Given the description of an element on the screen output the (x, y) to click on. 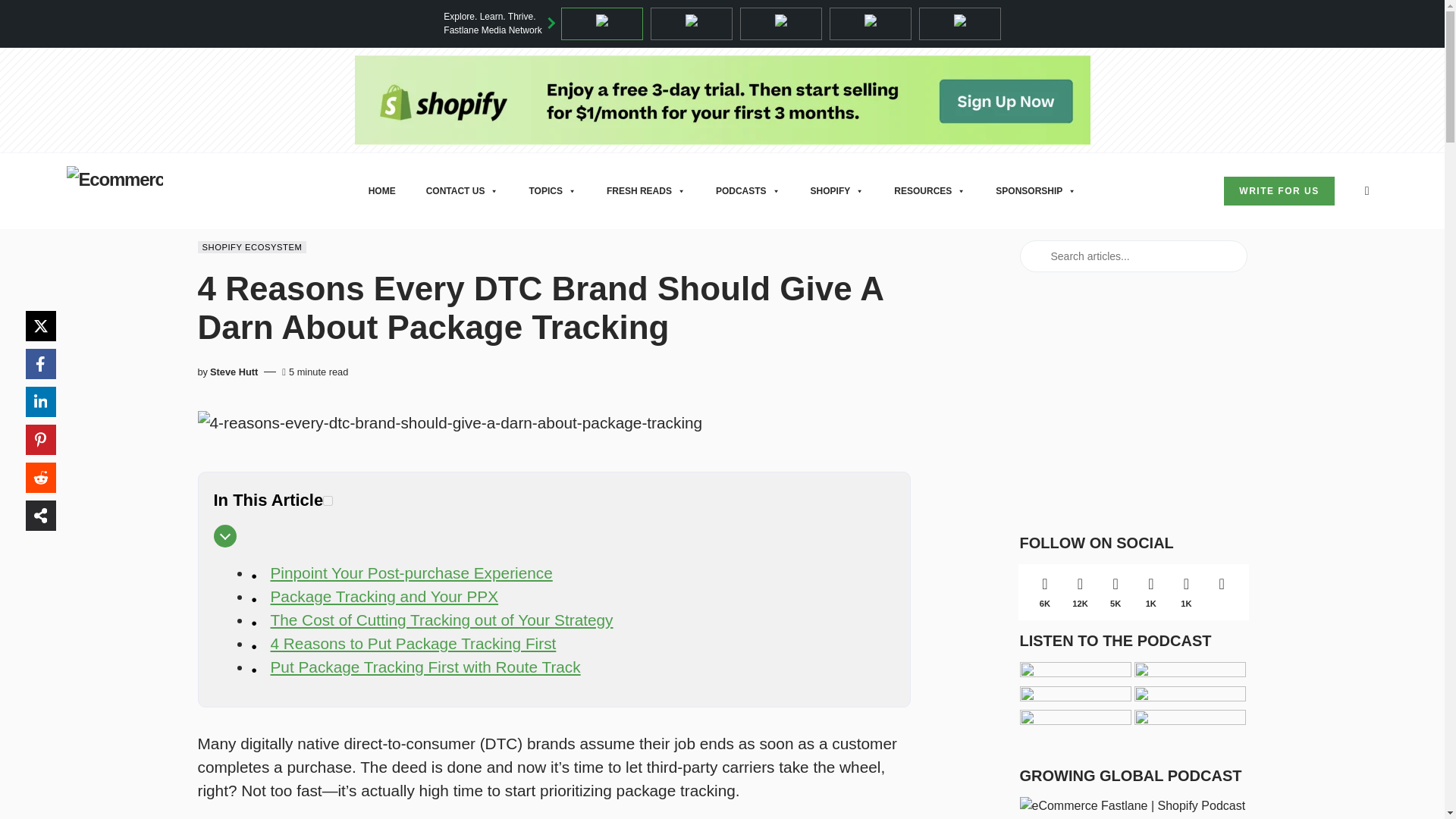
on (328, 501)
Package Tracking and Your PPX (383, 596)
4 Reasons to Put Package Tracking First (412, 642)
Put Package Tracking First with Route Track (424, 666)
The Cost of Cutting Tracking out of Your Strategy (440, 619)
View all posts by Steve Hutt (233, 371)
Pinpoint Your Post-purchase Experience (410, 572)
